Given the description of an element on the screen output the (x, y) to click on. 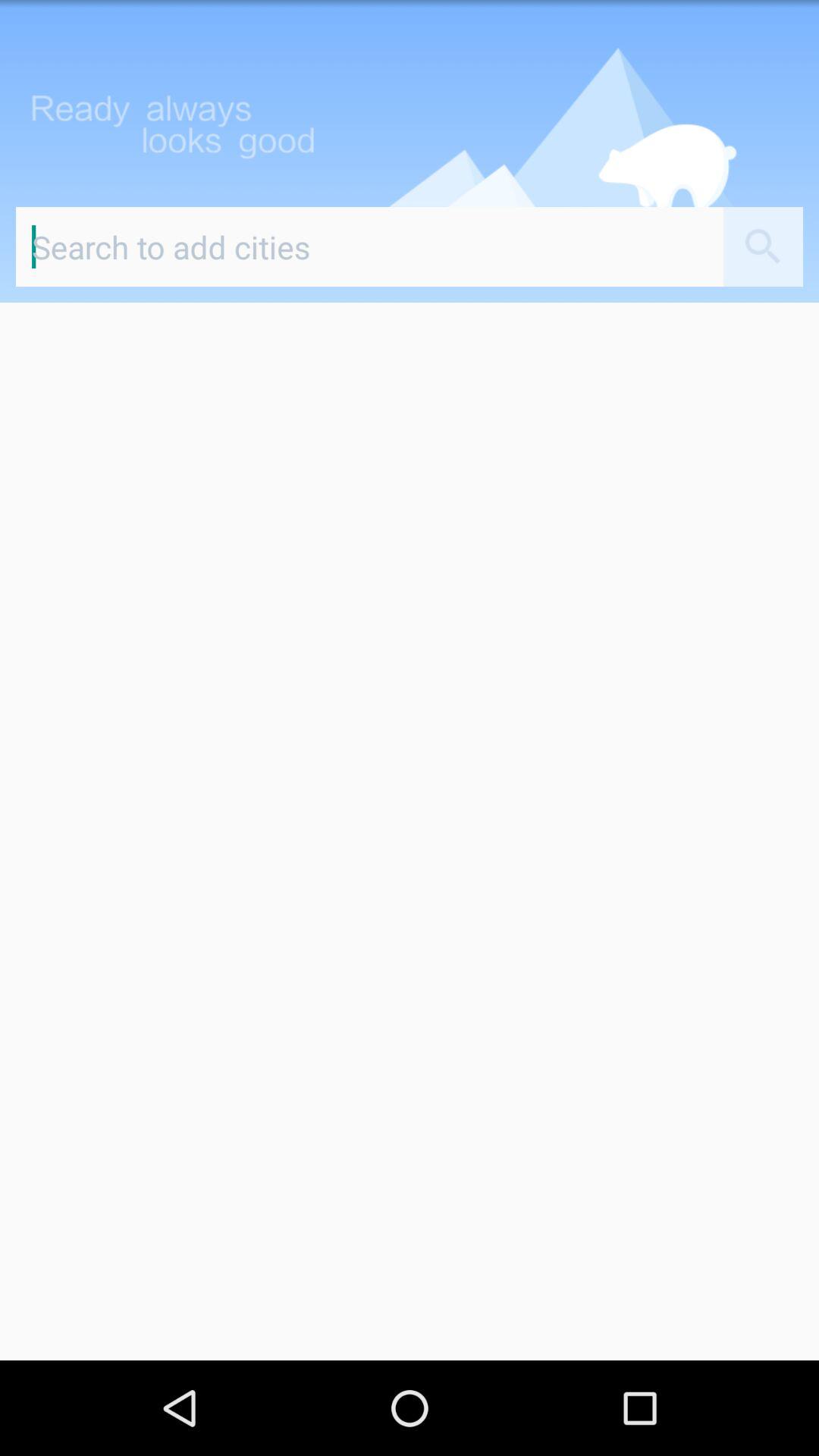
search field (369, 246)
